Given the description of an element on the screen output the (x, y) to click on. 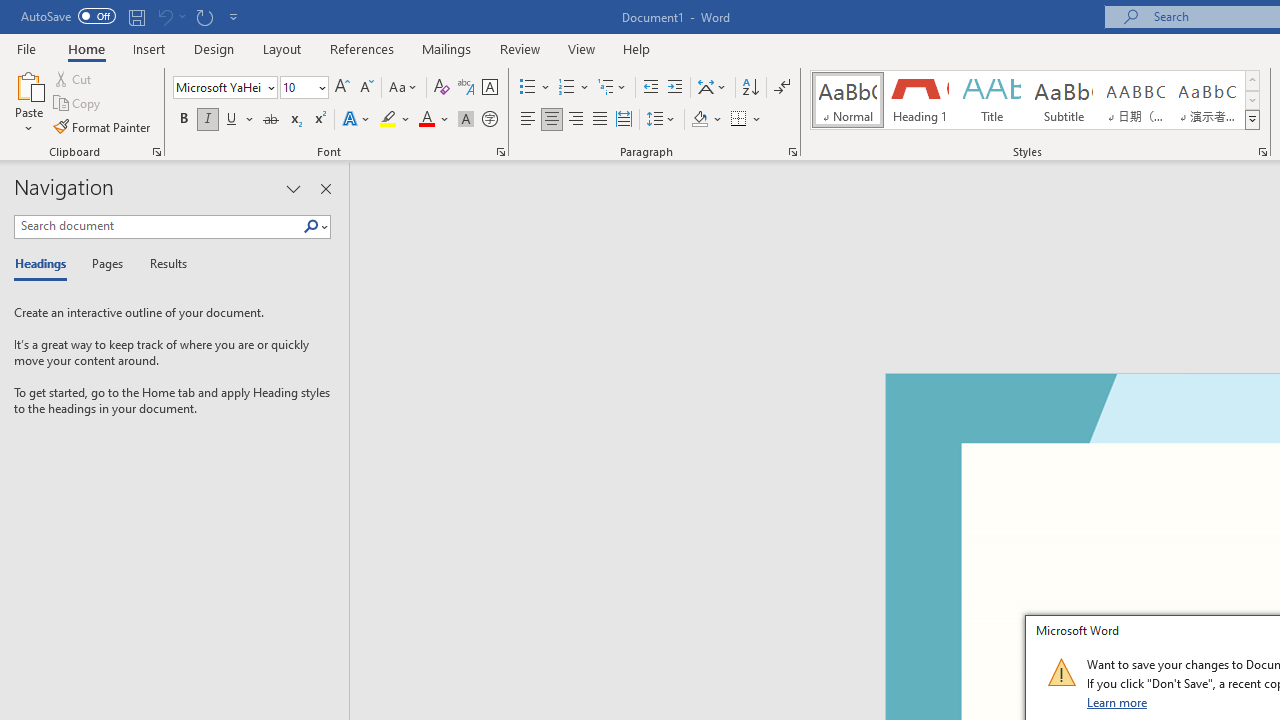
Repeat Subscript (204, 15)
Heading 1 (920, 100)
Font Color Red (426, 119)
AutomationID: QuickStylesGallery (1035, 99)
